Given the description of an element on the screen output the (x, y) to click on. 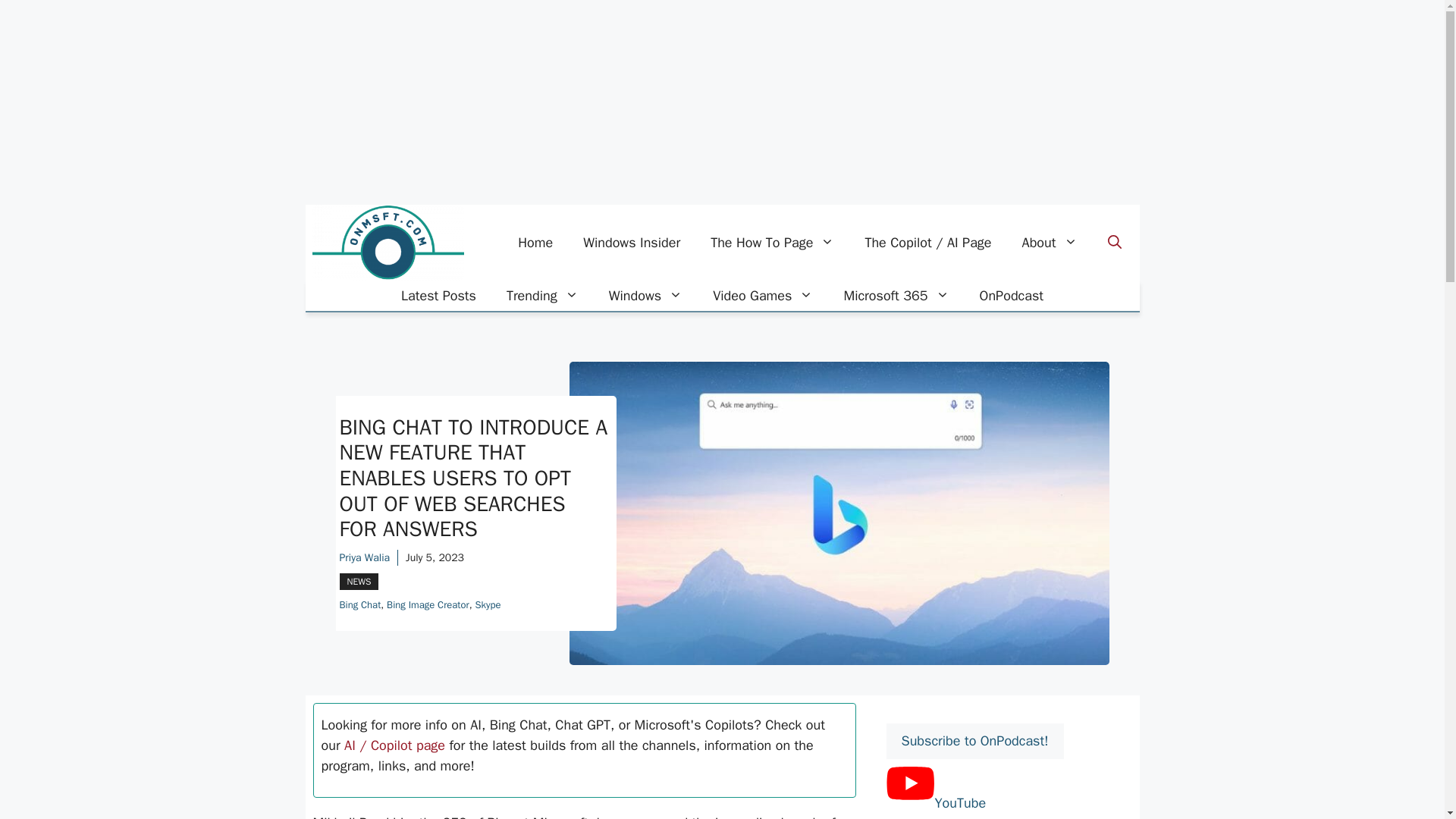
Windows (645, 295)
Windows Insider (631, 242)
Home (534, 242)
Latest Posts (438, 295)
About (1050, 242)
Trending (543, 295)
Video Games (762, 295)
The How To Page (771, 242)
